Given the description of an element on the screen output the (x, y) to click on. 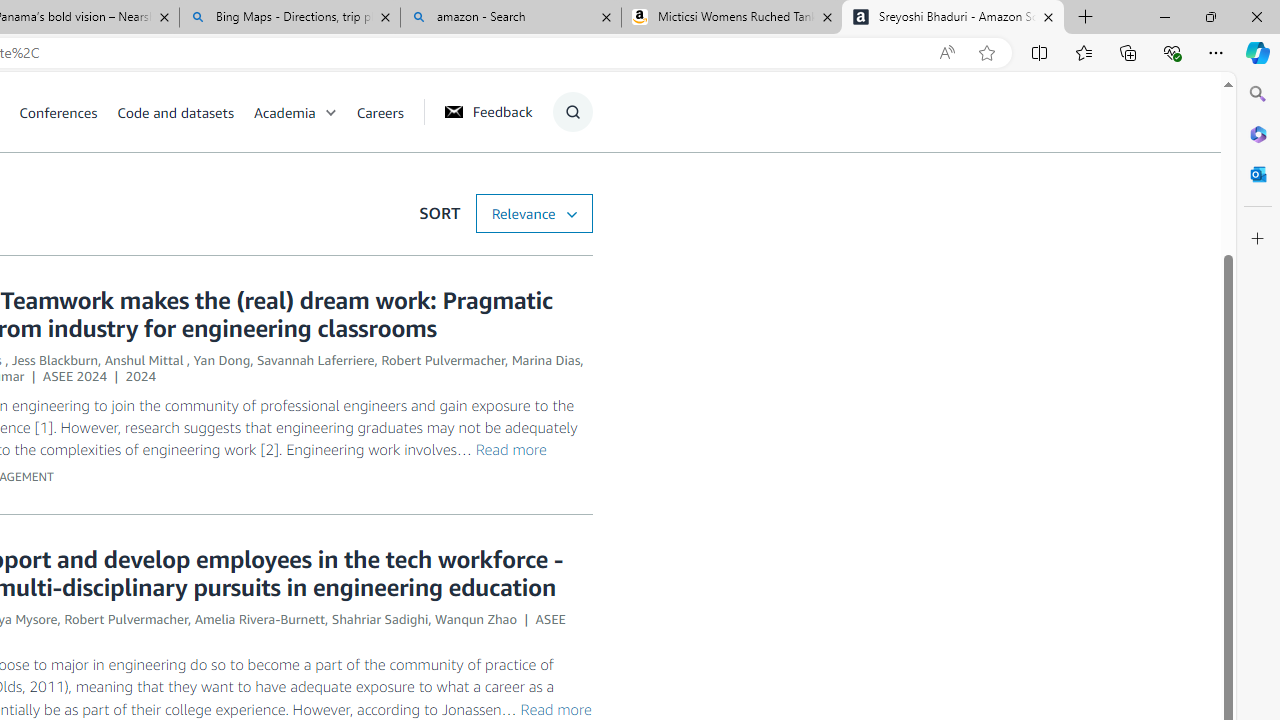
Careers (379, 111)
Read more (555, 708)
Open Sub Navigation (330, 111)
Class: chevron (330, 116)
Careers (389, 111)
Conferences (58, 111)
